Given the description of an element on the screen output the (x, y) to click on. 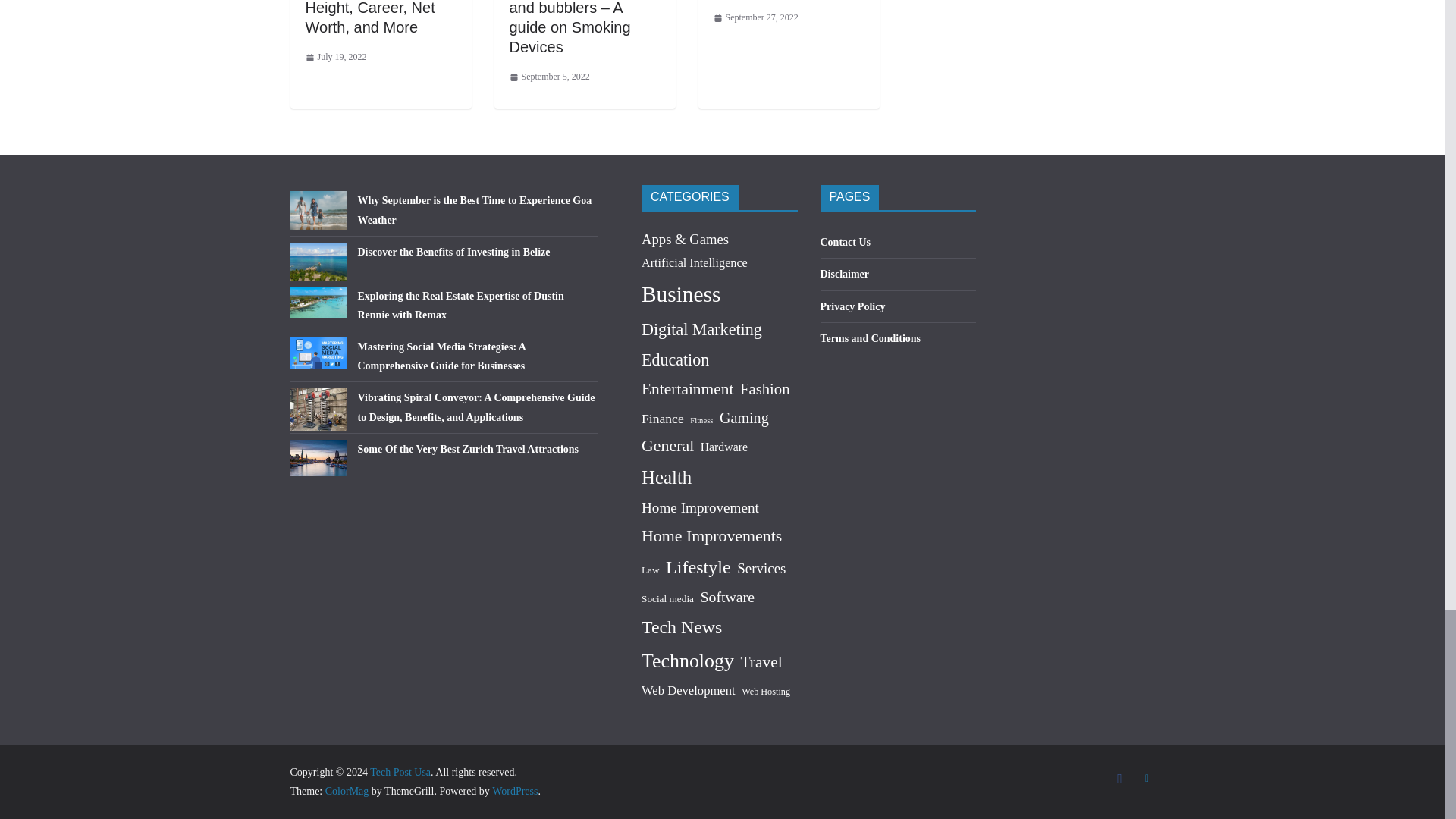
July 19, 2022 (335, 57)
10:29 PM (335, 57)
5:45 PM (549, 76)
